Given the description of an element on the screen output the (x, y) to click on. 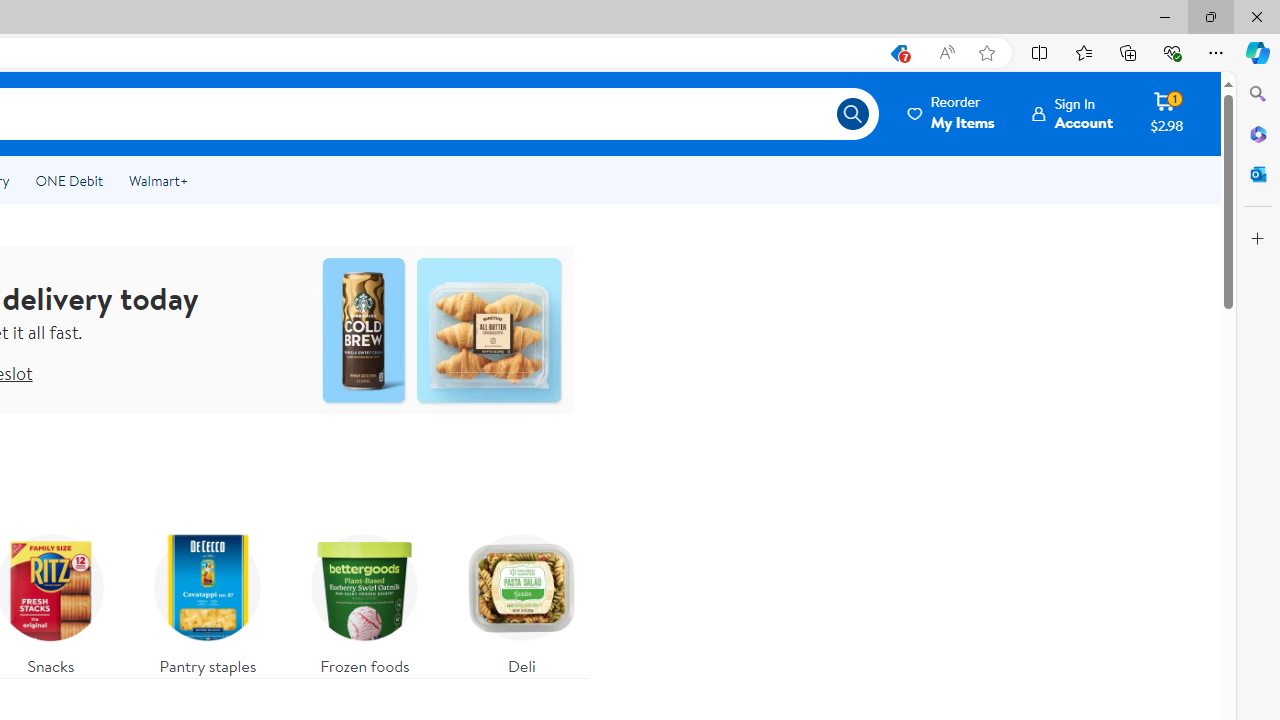
Sign InAccount (1072, 113)
Sign In Account (1072, 113)
Favorites (1083, 52)
Split screen (1039, 52)
This site has coupons! Shopping in Microsoft Edge, 7 (898, 53)
Search icon (852, 113)
Restore (1210, 16)
Walmart+ (158, 180)
ReorderMy Items (952, 113)
Add this page to favorites (Ctrl+D) (986, 53)
Deli (521, 599)
Pantry staples (207, 599)
Frozen foods (364, 599)
Walmart+ (158, 180)
Deli (521, 599)
